Given the description of an element on the screen output the (x, y) to click on. 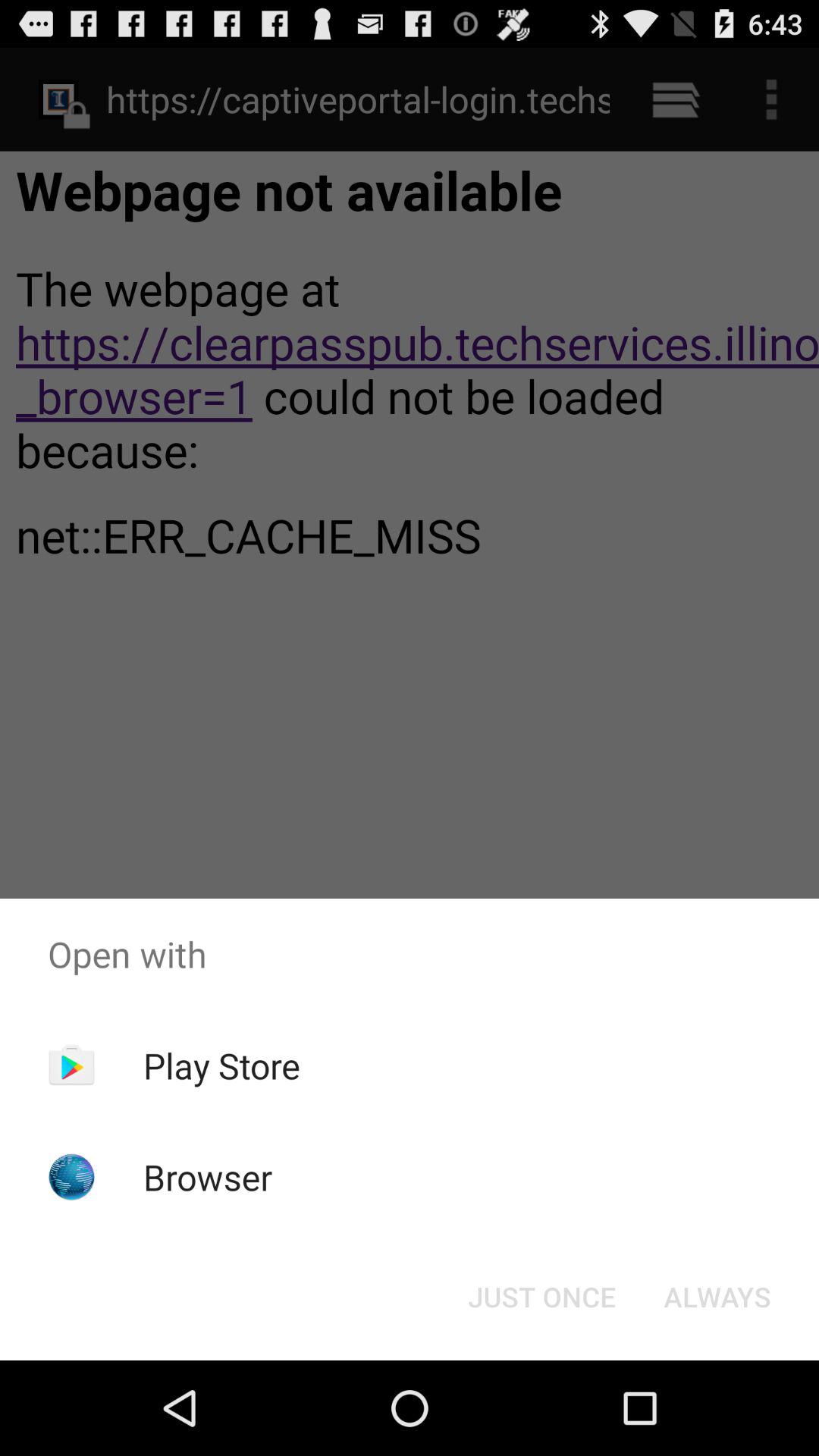
open the item at the bottom right corner (717, 1296)
